Given the description of an element on the screen output the (x, y) to click on. 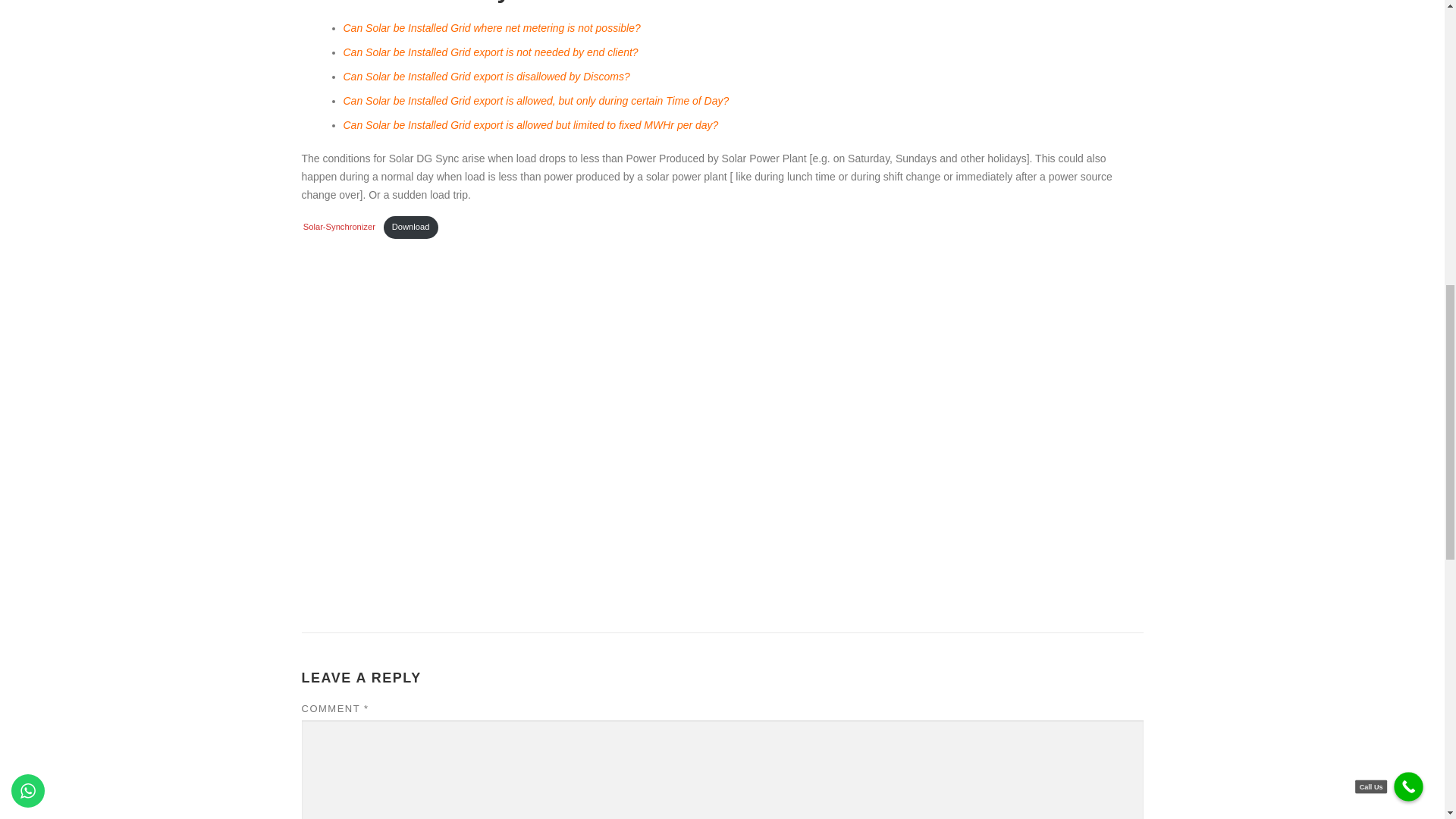
Solar-Synchronizer (339, 226)
Download (411, 227)
